Given the description of an element on the screen output the (x, y) to click on. 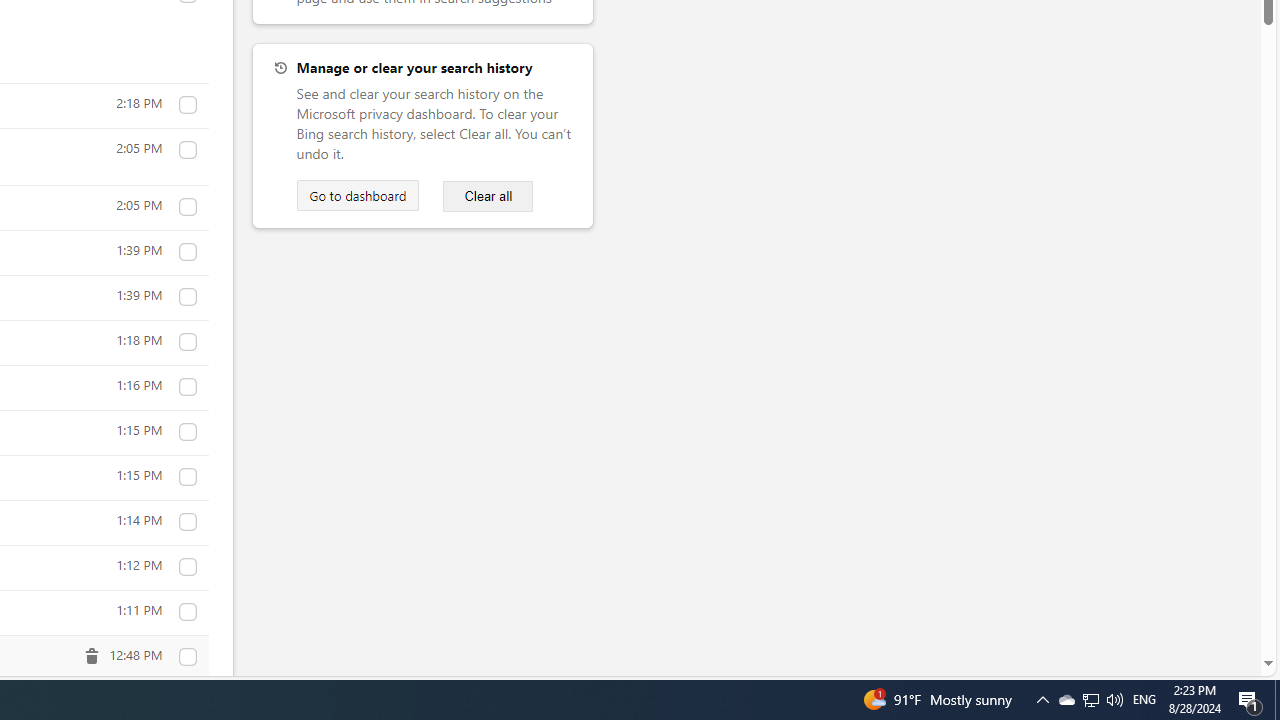
Collectibles & Fine Art | Sports | Jerseys (187, 657)
amazon echo dot accessories (187, 387)
Newest Amazon Echo Dot (187, 431)
Clear your search history (487, 195)
Amazon Echo Dot PNG (187, 341)
poe ++ standard (187, 150)
amazon (187, 567)
Go to dashboard (357, 195)
Amazon Echo Robot (187, 521)
github (187, 104)
Search (187, 297)
poe (187, 207)
Amazon Echo Dot Colors (187, 477)
World tourist attraction (187, 611)
